Given the description of an element on the screen output the (x, y) to click on. 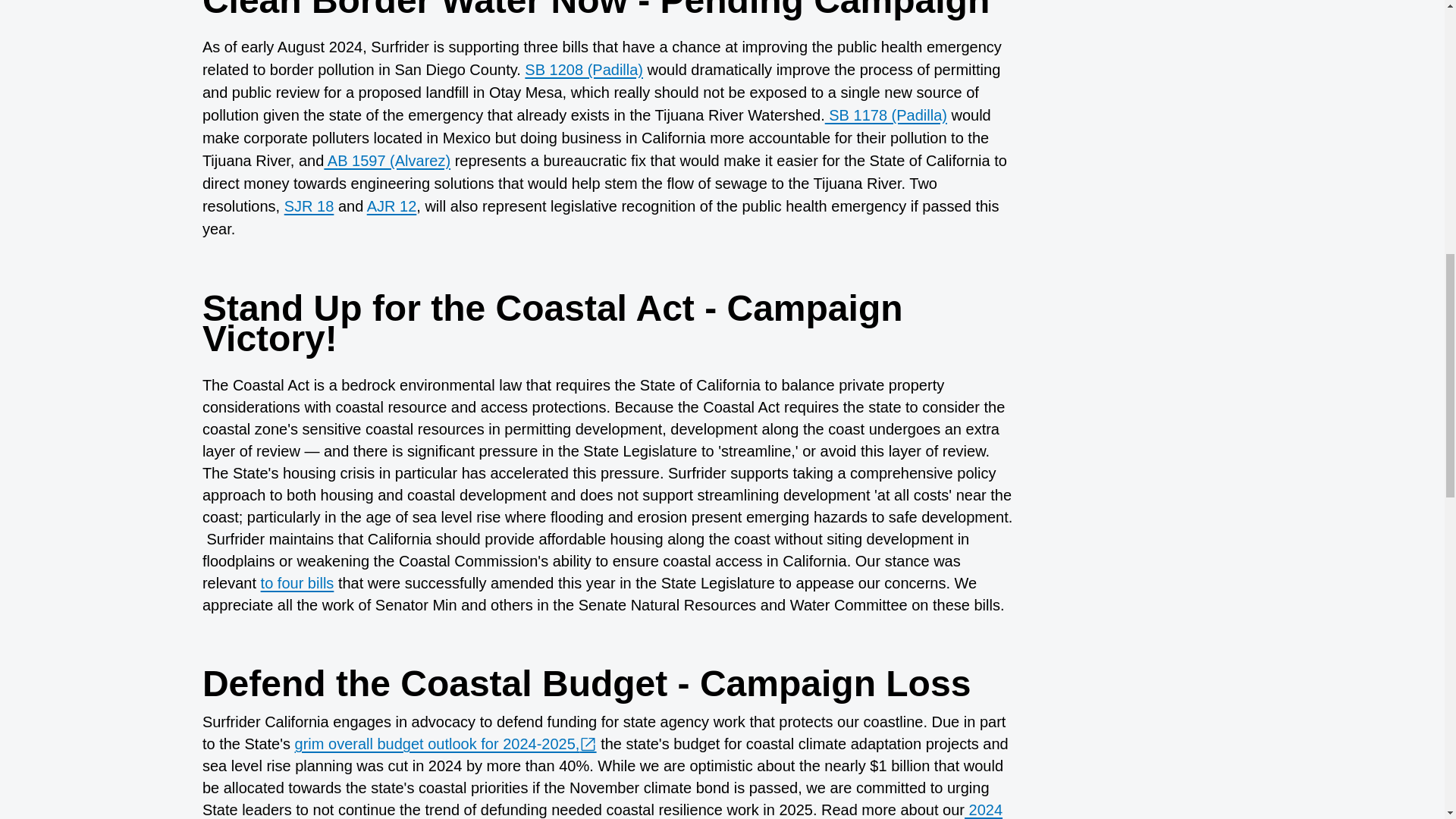
to four bills (297, 582)
grim overall budget outlook for 2024-2025, (445, 743)
AJR 12 (391, 206)
SJR 18 (308, 206)
2024 budget work (602, 810)
